Given the description of an element on the screen output the (x, y) to click on. 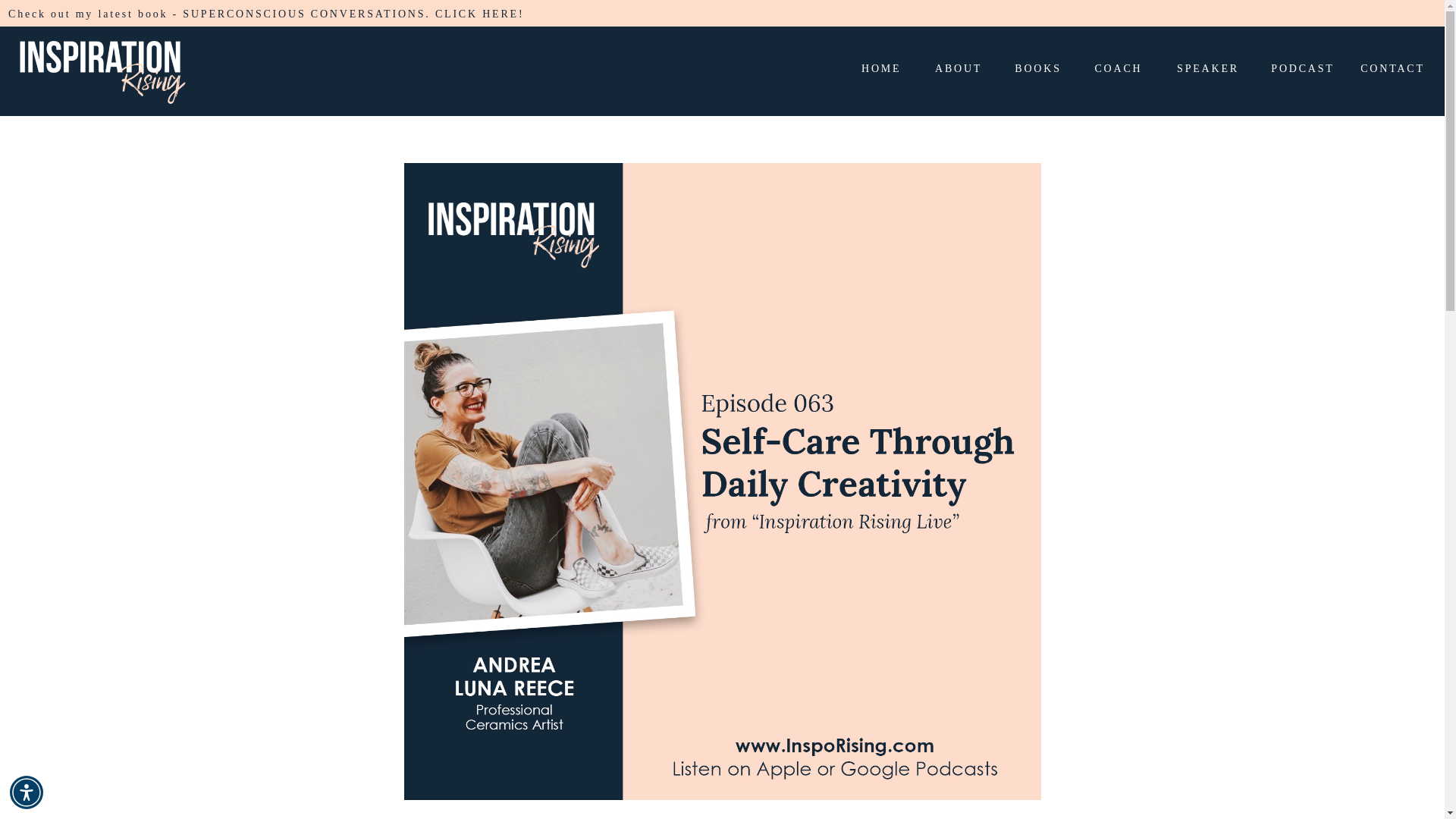
COACH (1117, 71)
HOME (879, 71)
PODCAST (1302, 71)
SPEAKER (1207, 71)
CONTACT (1392, 71)
BOOKS (1037, 71)
Accessibility Menu (26, 792)
ABOUT (954, 71)
